Given the description of an element on the screen output the (x, y) to click on. 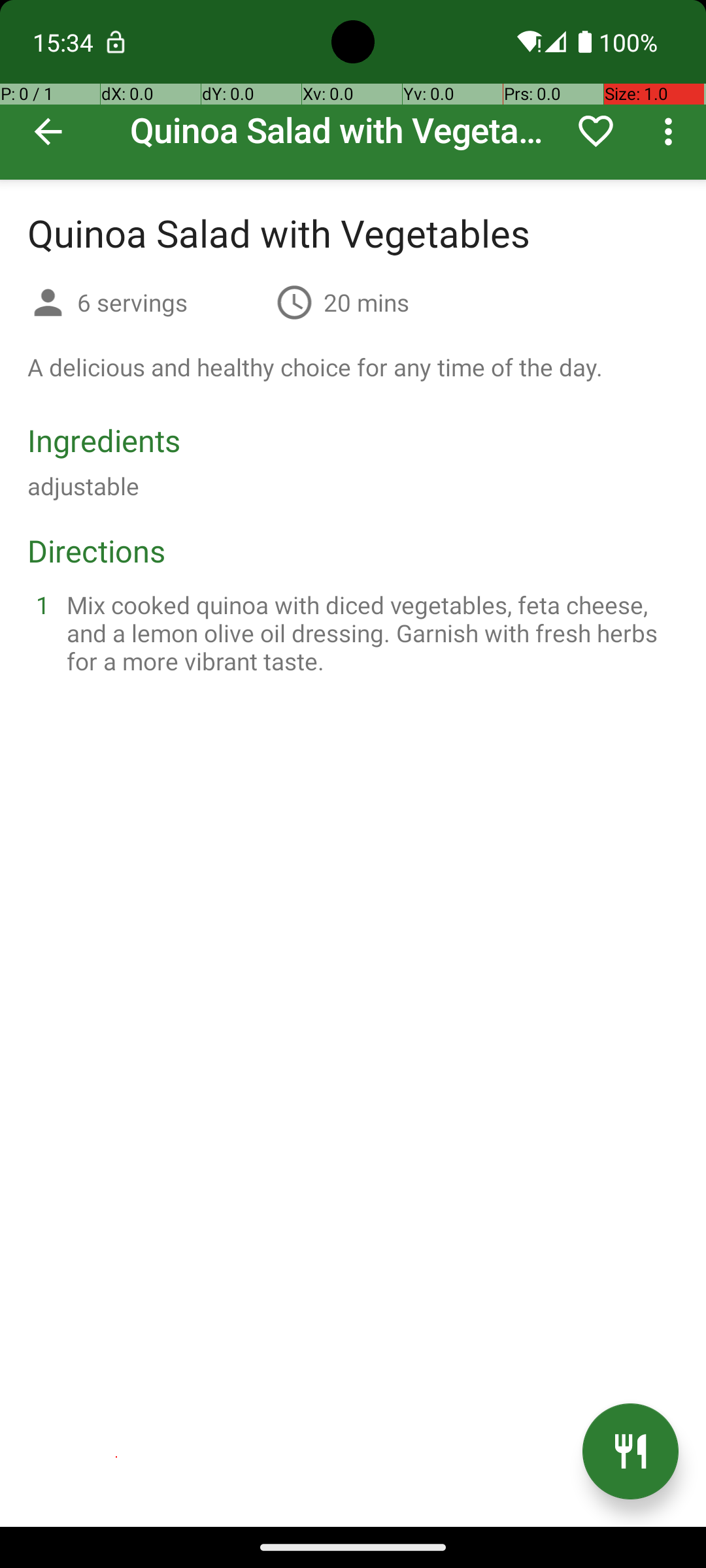
Mix cooked quinoa with diced vegetables, feta cheese, and a lemon olive oil dressing. Garnish with fresh herbs for a more vibrant taste. Element type: android.widget.TextView (368, 632)
